Given the description of an element on the screen output the (x, y) to click on. 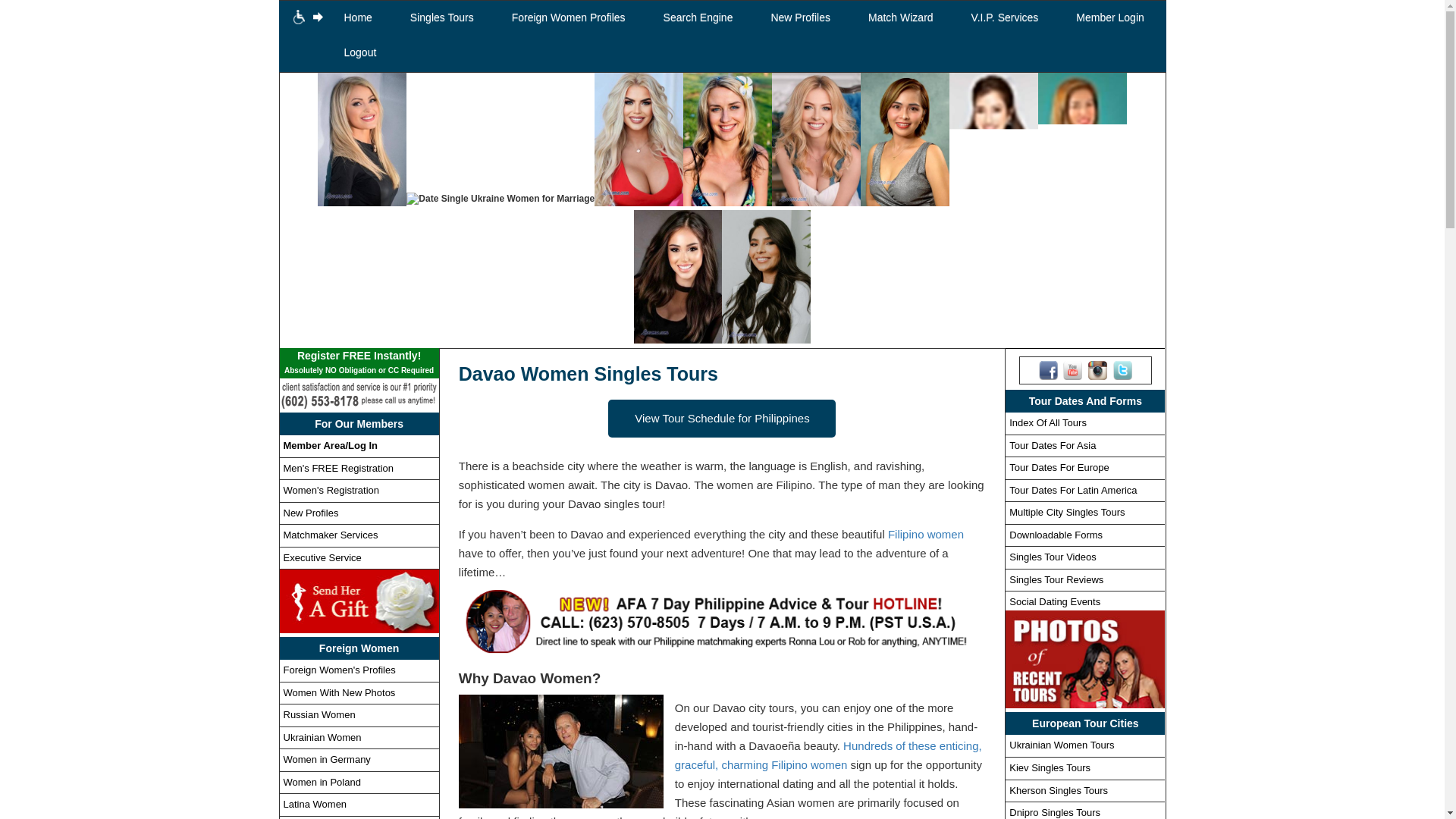
Single Latin Women (766, 276)
Single Ukraine Women (361, 139)
Single Philippine Women (1082, 139)
Single Asian Women (904, 139)
Member Login (1110, 18)
V.I.P. Services (1005, 18)
Single Latin Women (677, 276)
Single Ukraine Women (500, 198)
Match Wizard (900, 18)
New Profiles (799, 18)
Foreign Women Profiles (569, 18)
Logout (359, 53)
Single Asian Women (993, 139)
Single Ukraine Women (638, 139)
